Given the description of an element on the screen output the (x, y) to click on. 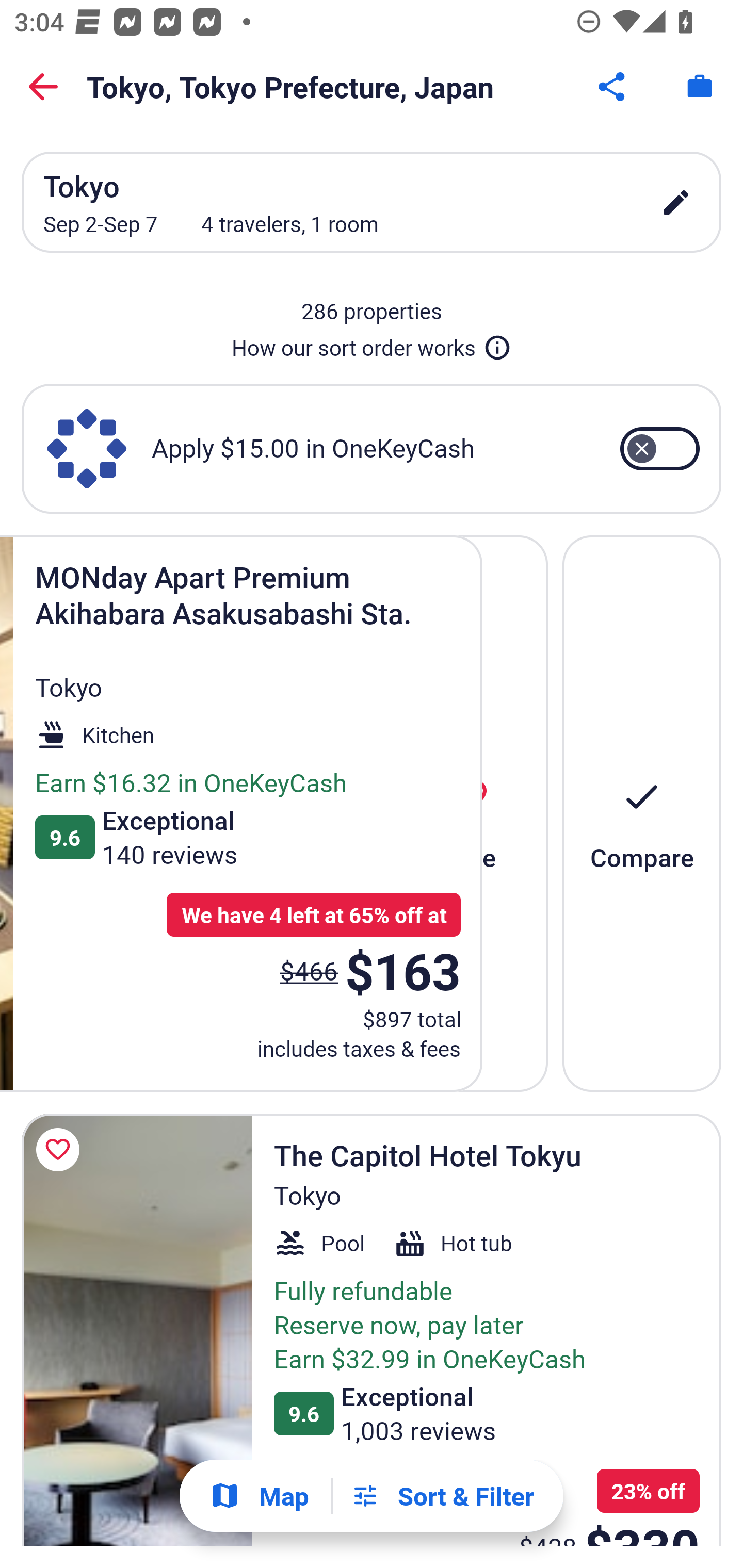
Back (43, 86)
Share Button (612, 86)
Trips. Button (699, 86)
Tokyo Sep 2-Sep 7 4 travelers, 1 room edit (371, 202)
How our sort order works (371, 344)
Compare (641, 812)
$466 The price was $466 (308, 970)
Save The Capitol Hotel Tokyu to a trip (61, 1150)
The Capitol Hotel Tokyu (136, 1329)
Filters Sort & Filter Filters Button (442, 1495)
Show map Map Show map Button (258, 1495)
